Given the description of an element on the screen output the (x, y) to click on. 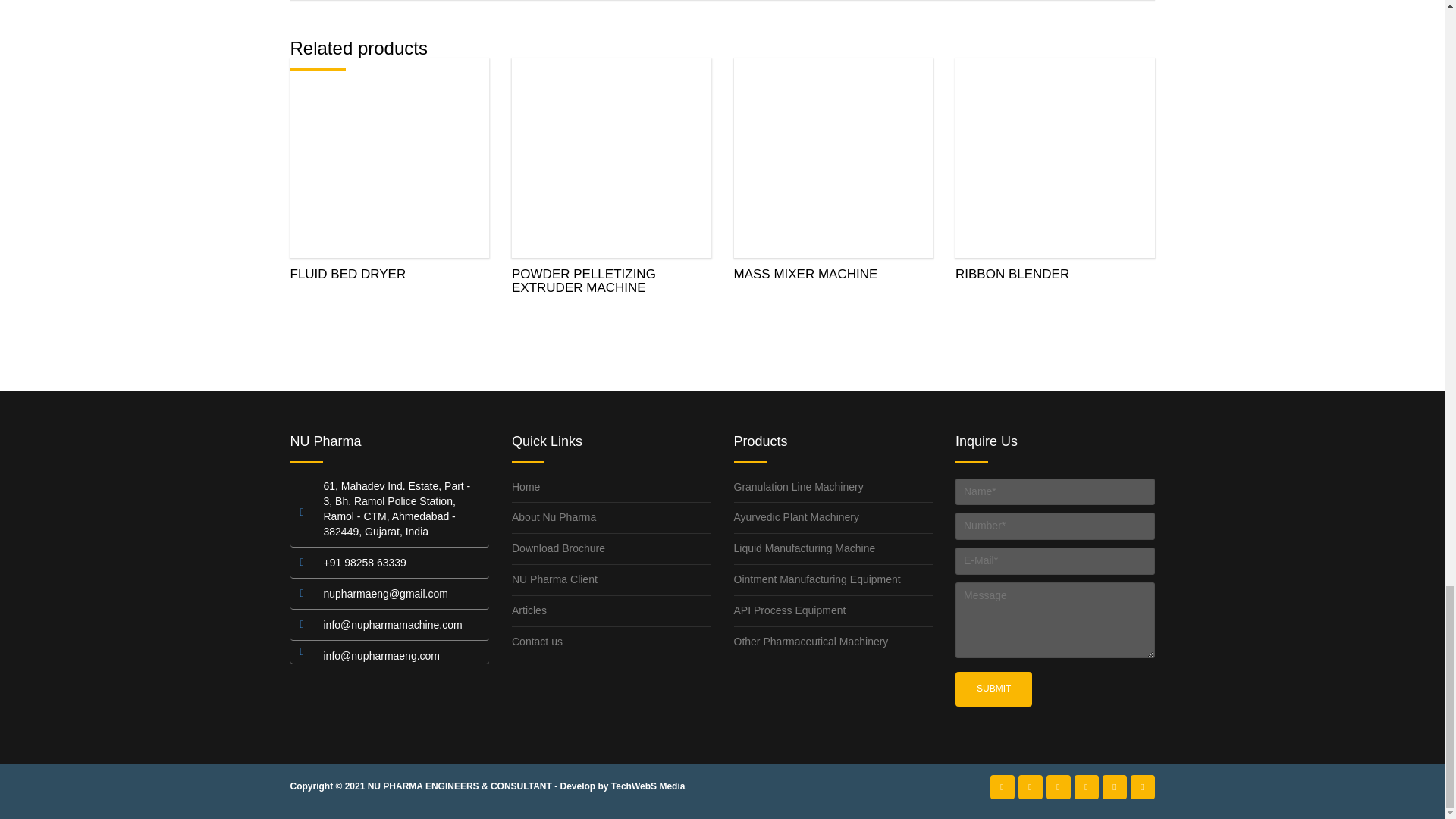
Submit (993, 688)
